Given the description of an element on the screen output the (x, y) to click on. 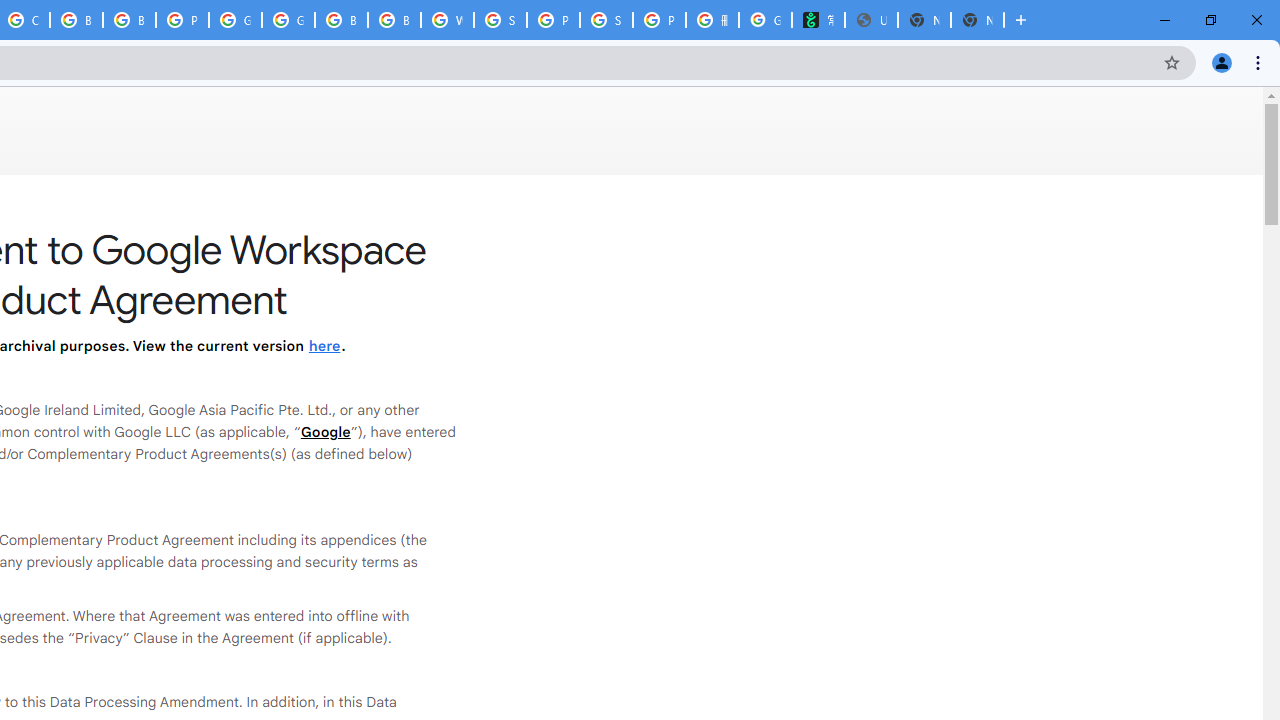
Browse Chrome as a guest - Computer - Google Chrome Help (341, 20)
Browse Chrome as a guest - Computer - Google Chrome Help (394, 20)
New Tab (977, 20)
Browse Chrome as a guest - Computer - Google Chrome Help (129, 20)
Google Cloud Platform (288, 20)
Google Cloud Platform (235, 20)
